Given the description of an element on the screen output the (x, y) to click on. 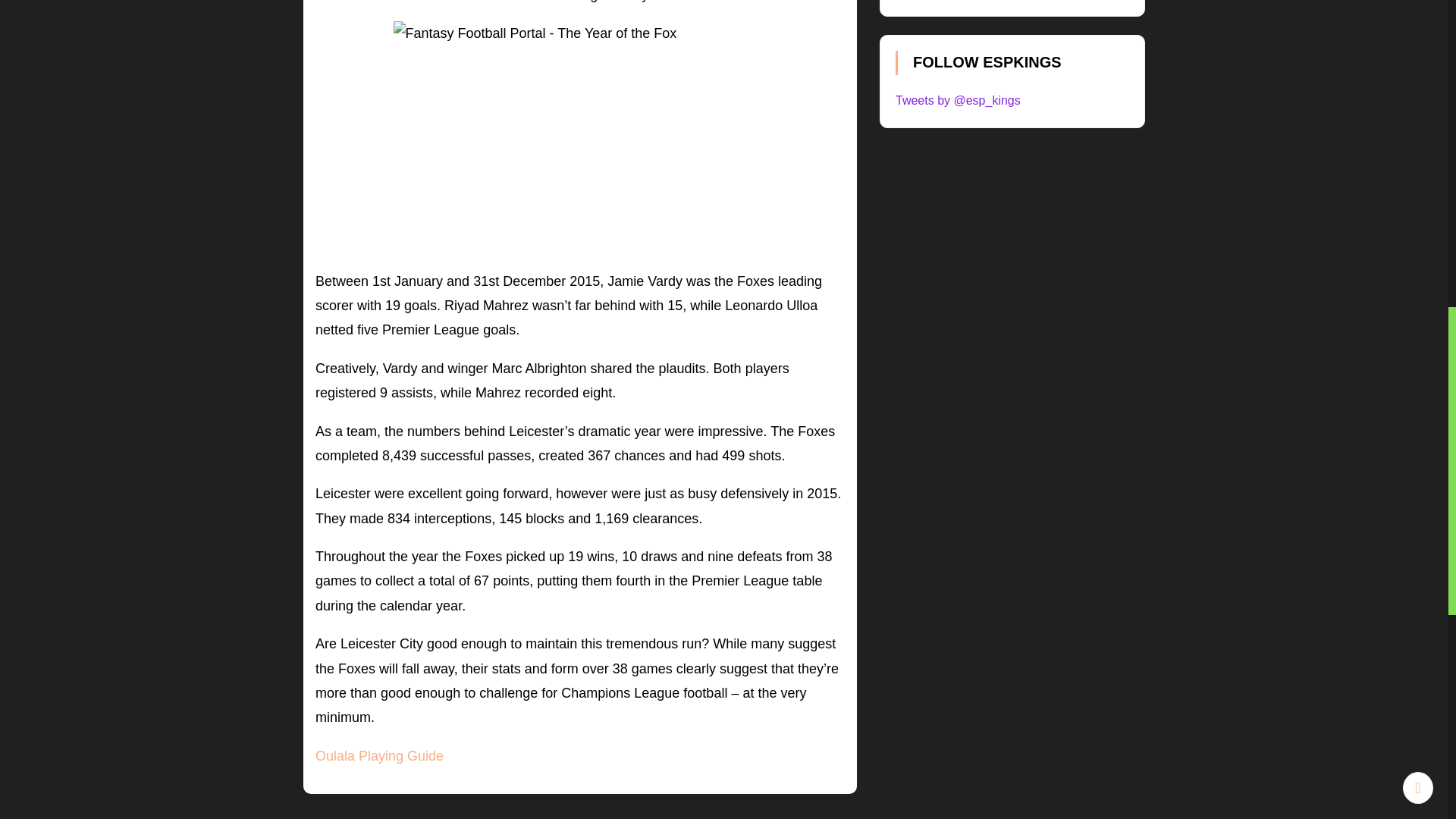
Oulala Playing Guide (379, 755)
